Given the description of an element on the screen output the (x, y) to click on. 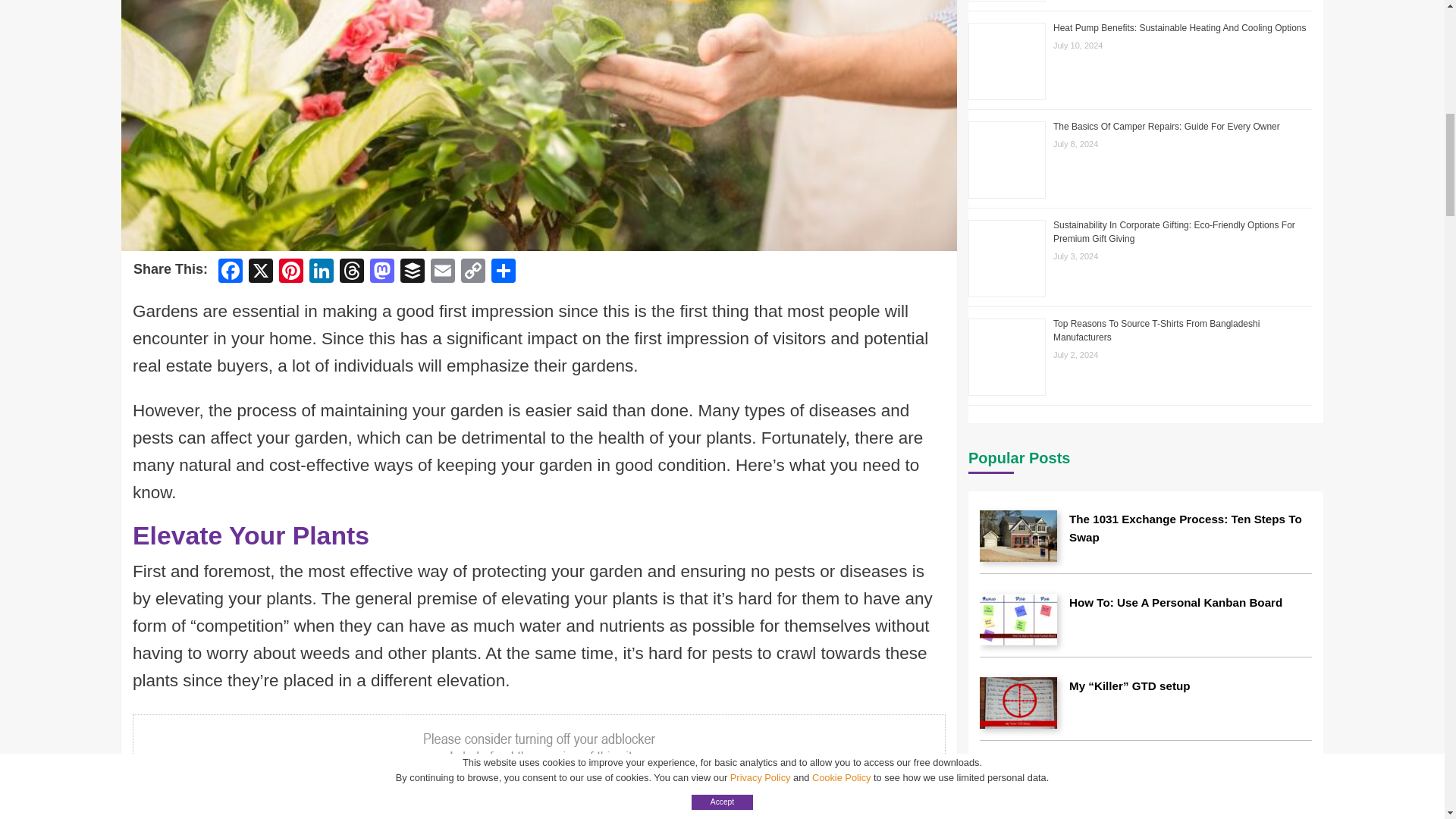
Buffer (412, 272)
Facebook (230, 272)
LinkedIn (320, 272)
Email (443, 272)
X (261, 272)
Mastodon (381, 272)
Threads (351, 272)
Pinterest (290, 272)
